Given the description of an element on the screen output the (x, y) to click on. 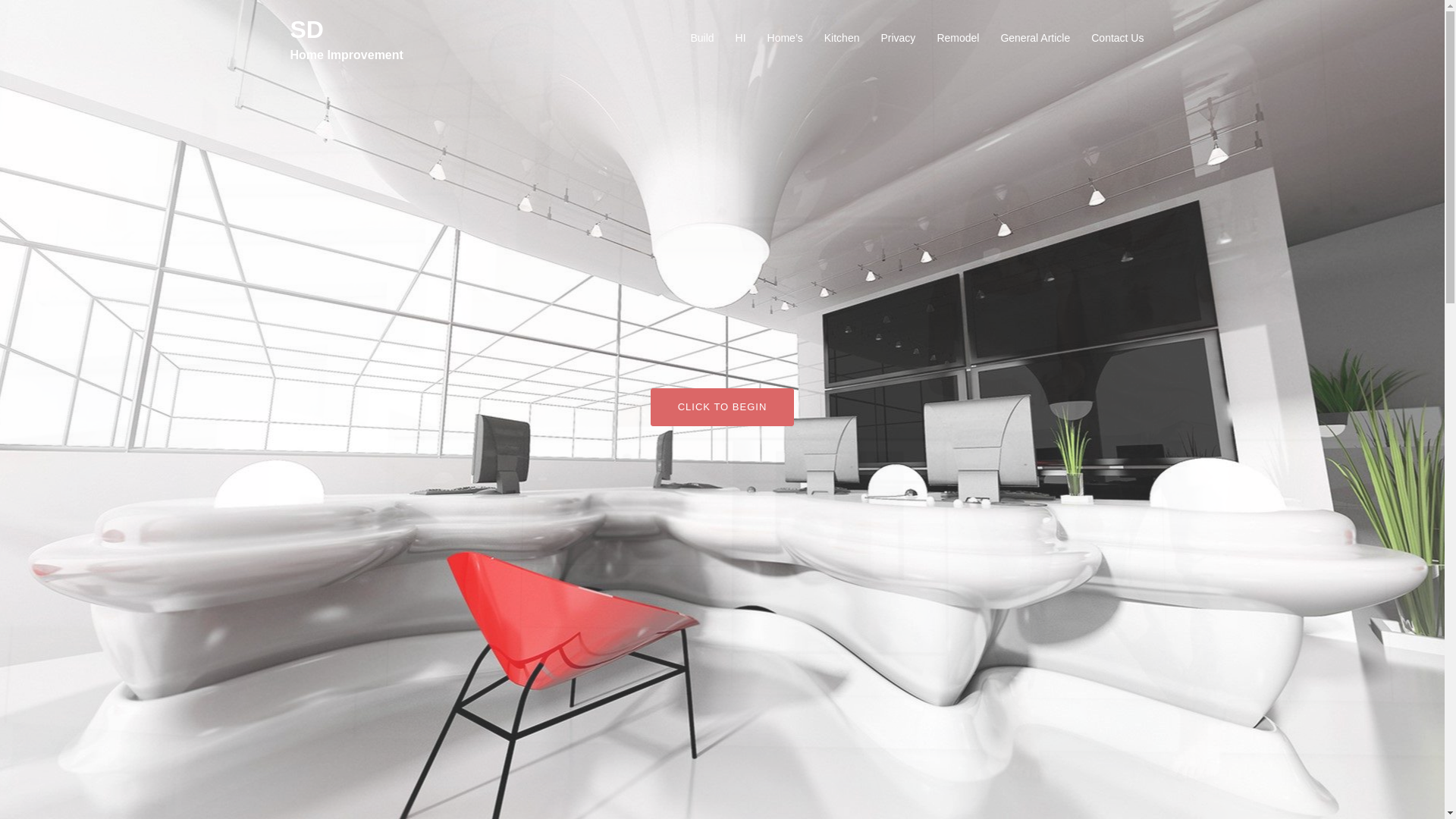
General Article (1035, 38)
Remodel (957, 38)
Contact Us (1116, 38)
SD (306, 29)
Privacy (897, 38)
Build (701, 38)
CLICK TO BEGIN (722, 406)
Kitchen (842, 38)
